Given the description of an element on the screen output the (x, y) to click on. 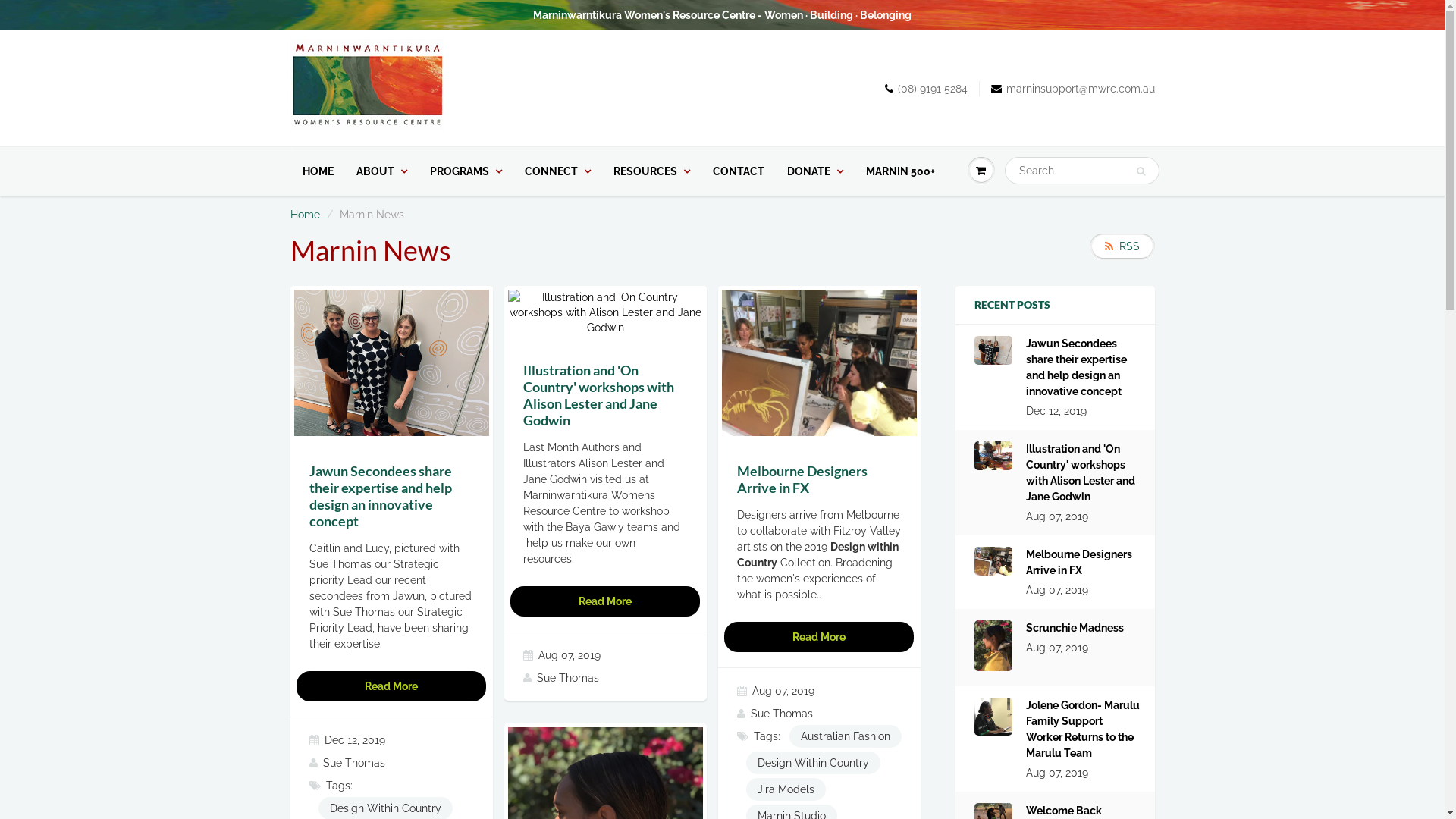
ABOUT Element type: text (380, 170)
Design Within Country Element type: text (813, 762)
DONATE Element type: text (814, 170)
Melbourne Designers Arrive in FX Element type: text (1082, 562)
Jira Models Element type: text (785, 789)
Home Element type: text (304, 214)
Australian Fashion Element type: text (844, 735)
HOME Element type: text (318, 170)
marninsupport@mwrc.com.au Element type: text (1072, 88)
CONTACT Element type: text (737, 170)
RESOURCES Element type: text (651, 170)
(08) 9191 5284 Element type: text (925, 88)
Read More Element type: text (604, 601)
MARNIN 500+ Element type: text (899, 170)
CONNECT Element type: text (556, 170)
Scrunchie Madness Element type: text (1074, 628)
PROGRAMS Element type: text (465, 170)
RSS Element type: text (1121, 246)
Read More Element type: text (391, 686)
Search Element type: text (1140, 171)
Read More Element type: text (818, 636)
